Given the description of an element on the screen output the (x, y) to click on. 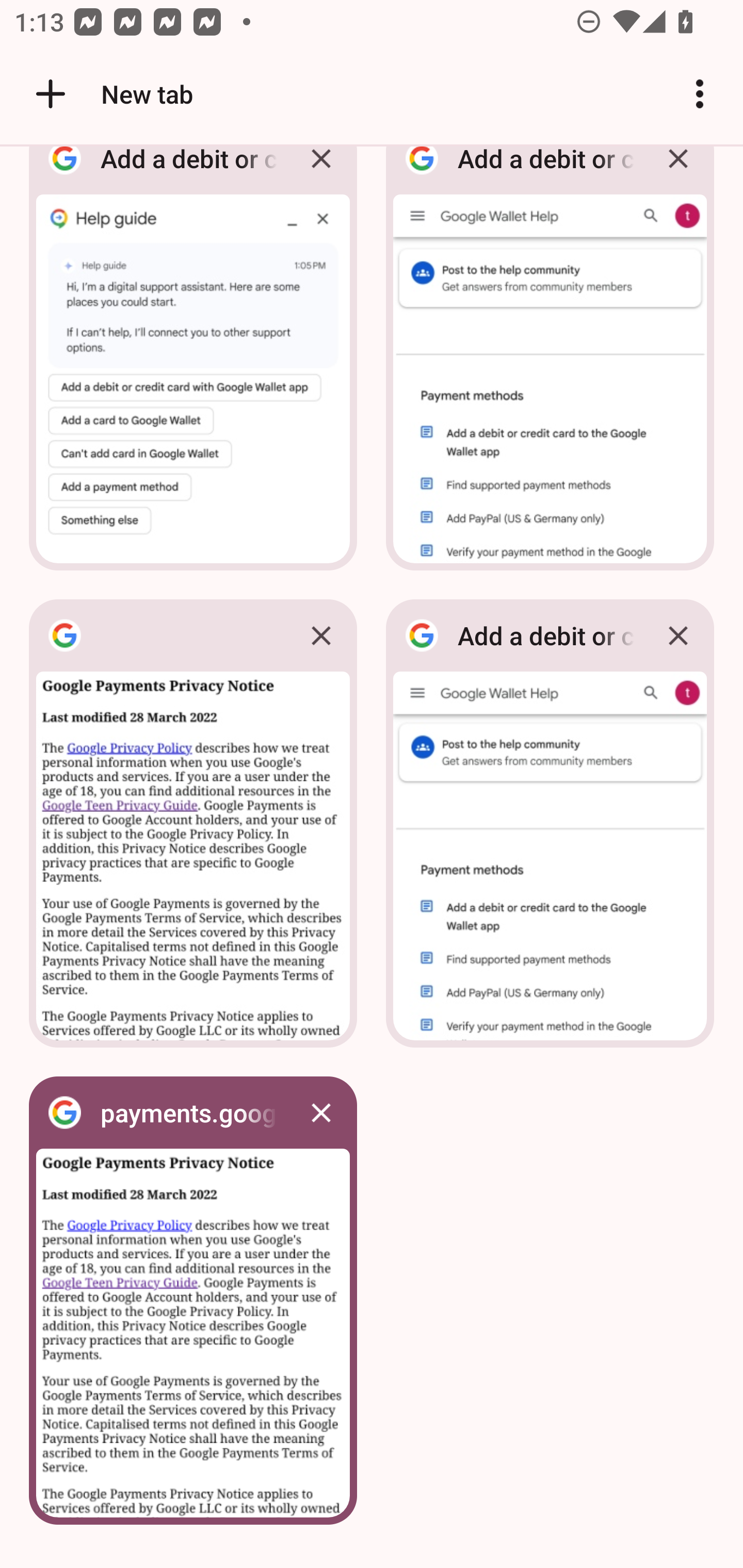
New tab (111, 93)
Customize and control Google Chrome (699, 93)
, tab Close  tab (192, 822)
Close  tab (320, 635)
